Given the description of an element on the screen output the (x, y) to click on. 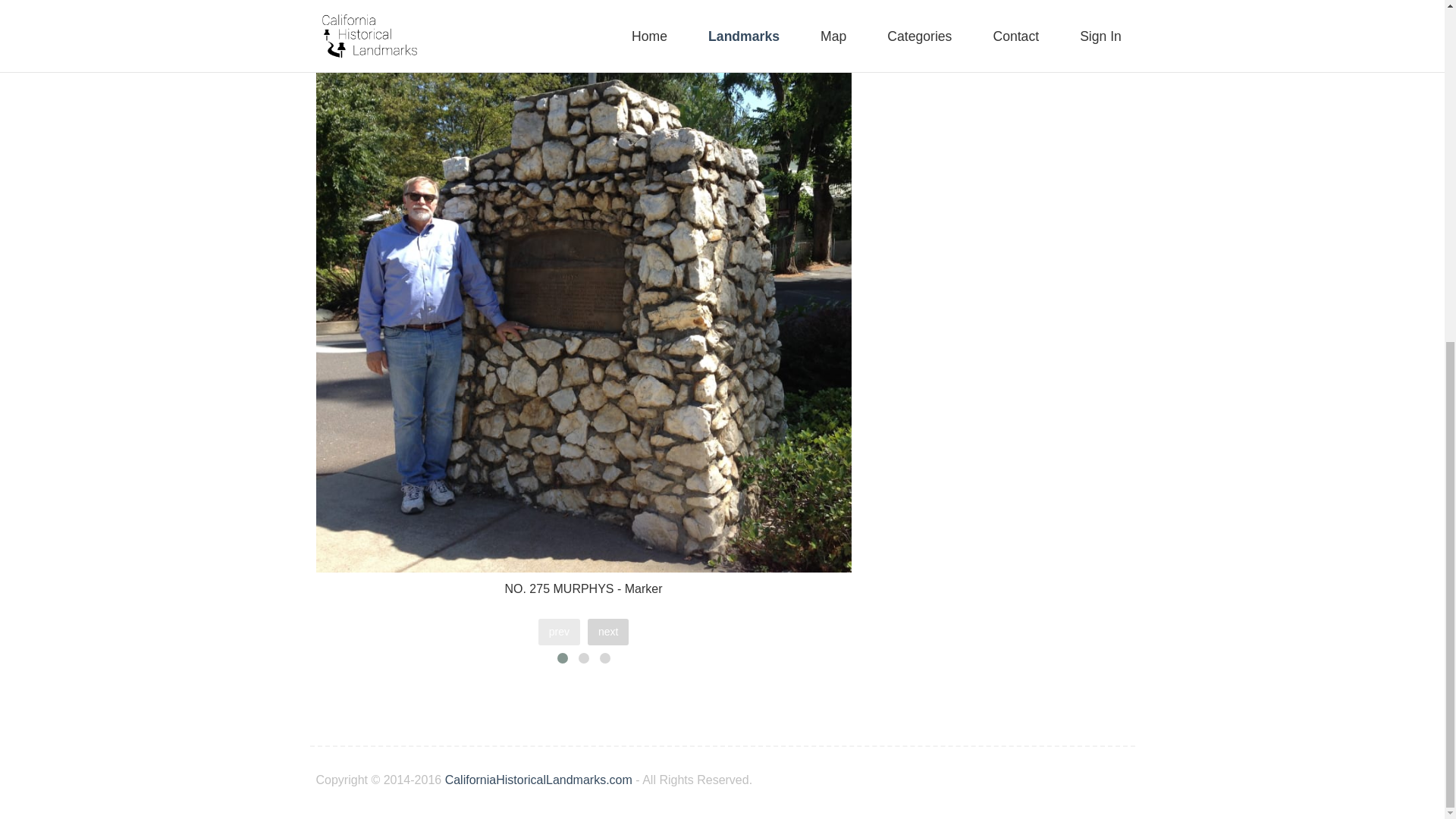
CaliforniaHistoricalLandmarks.com (538, 779)
